Given the description of an element on the screen output the (x, y) to click on. 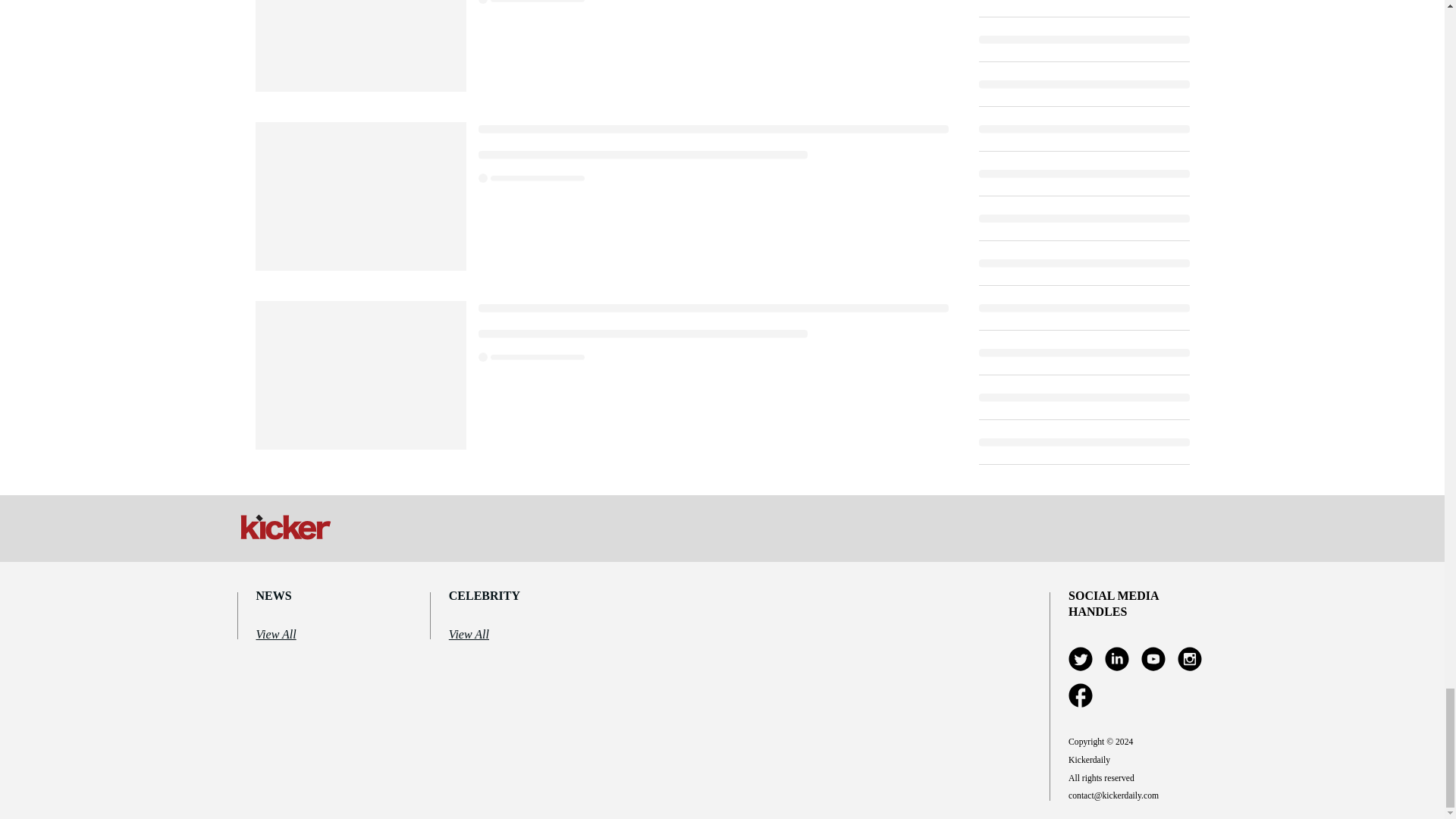
View All (327, 634)
NEWS (327, 596)
View All (520, 634)
CELEBRITY (520, 596)
